Given the description of an element on the screen output the (x, y) to click on. 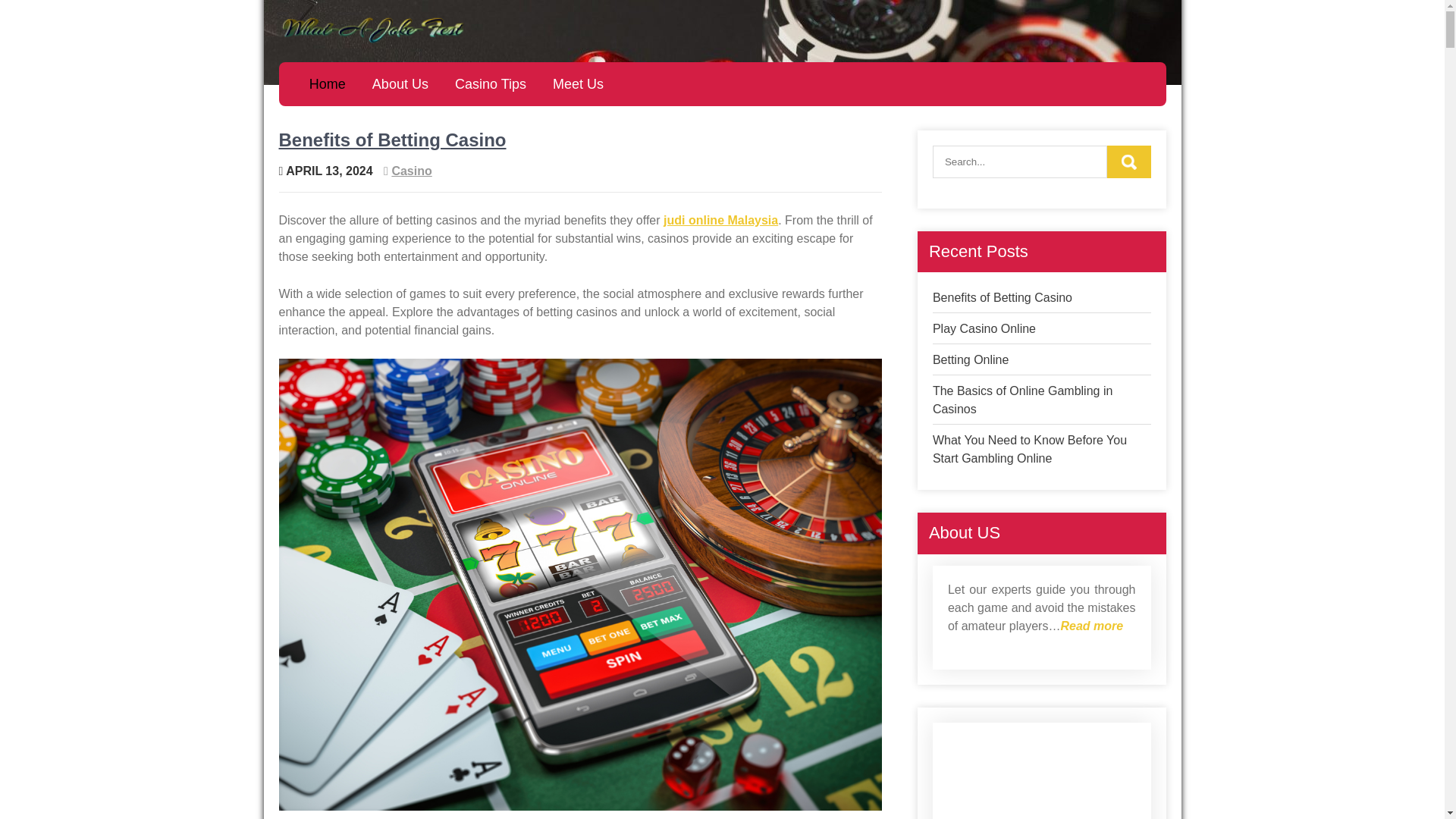
Casino (410, 170)
Meet Us (578, 84)
judi online Malaysia (720, 219)
Home (326, 84)
Benefits of Betting Casino (392, 139)
Search (1128, 161)
About Us (401, 84)
Casino Tips (491, 84)
What-A-Joke-Fest (381, 62)
Search (1128, 161)
